Given the description of an element on the screen output the (x, y) to click on. 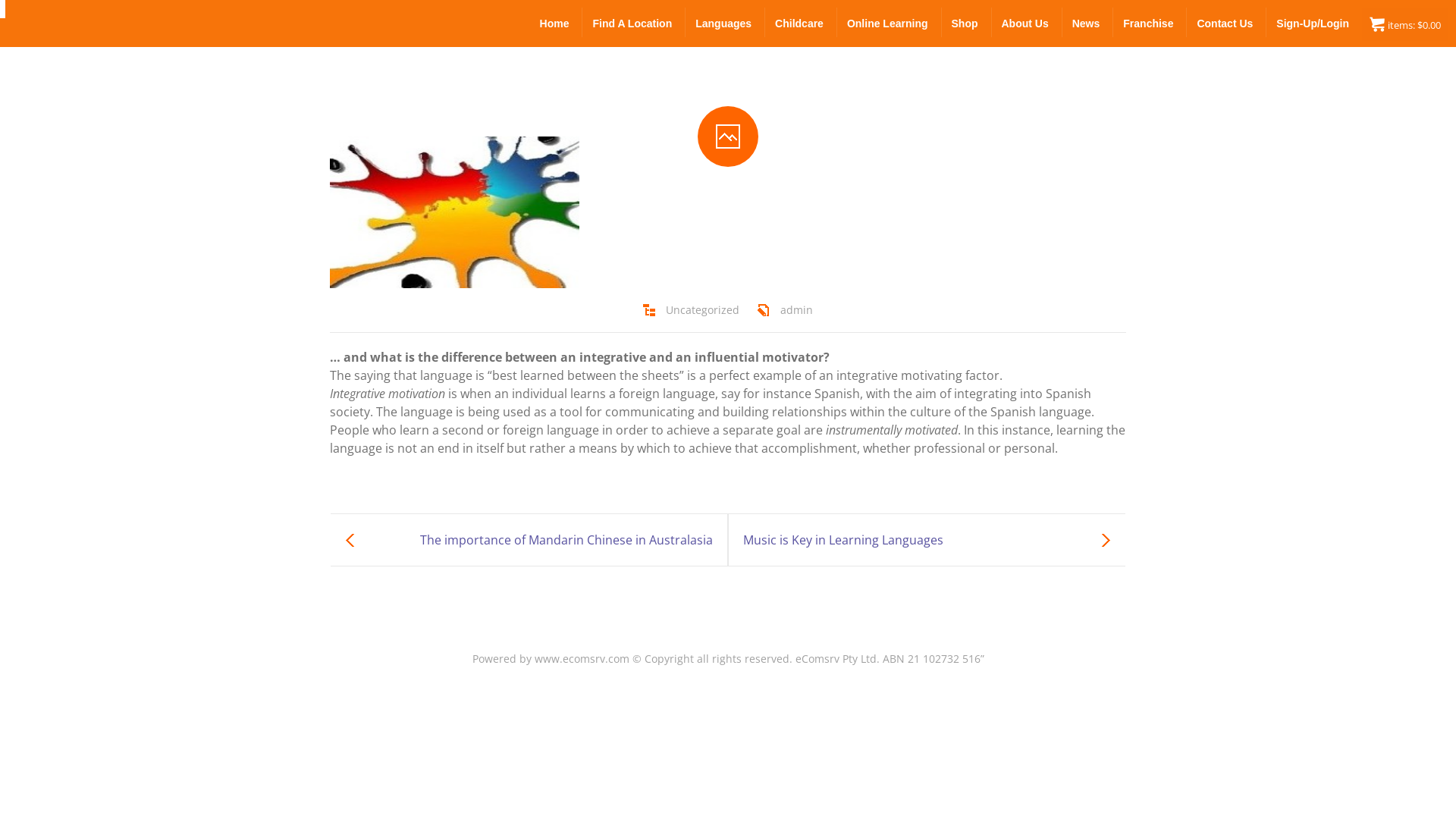
Music is Key in Learning Languages Element type: text (926, 539)
Sign-Up/Login Element type: text (1313, 22)
Shop Element type: text (965, 22)
News Element type: text (1086, 22)
admin Element type: text (796, 310)
Childcare Element type: text (799, 22)
LCF Fun Languages Australia - Kids Franchise Element type: hover (2, 8)
Find A Location Element type: text (632, 22)
Contact Us Element type: text (1225, 22)
The importance of Mandarin Chinese in Australasia Element type: text (529, 539)
items: $0.00 Element type: text (1404, 23)
Franchise Element type: text (1148, 22)
Home Element type: text (555, 22)
Online Learning Element type: text (888, 22)
About Us Element type: text (1025, 22)
Languages Element type: text (723, 22)
Uncategorized Element type: text (702, 310)
